Given the description of an element on the screen output the (x, y) to click on. 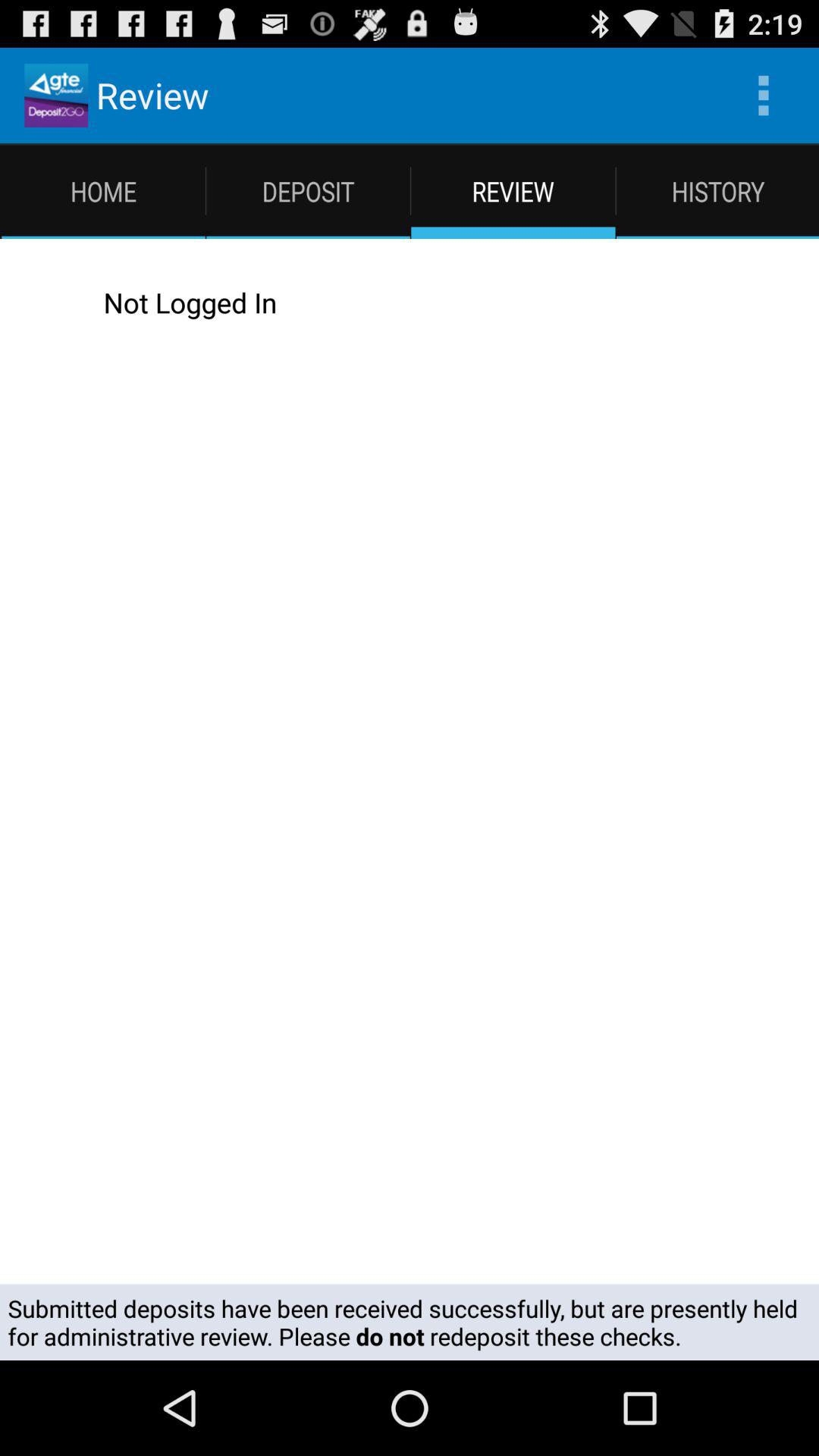
open the icon above the submitted deposits have icon (425, 302)
